Given the description of an element on the screen output the (x, y) to click on. 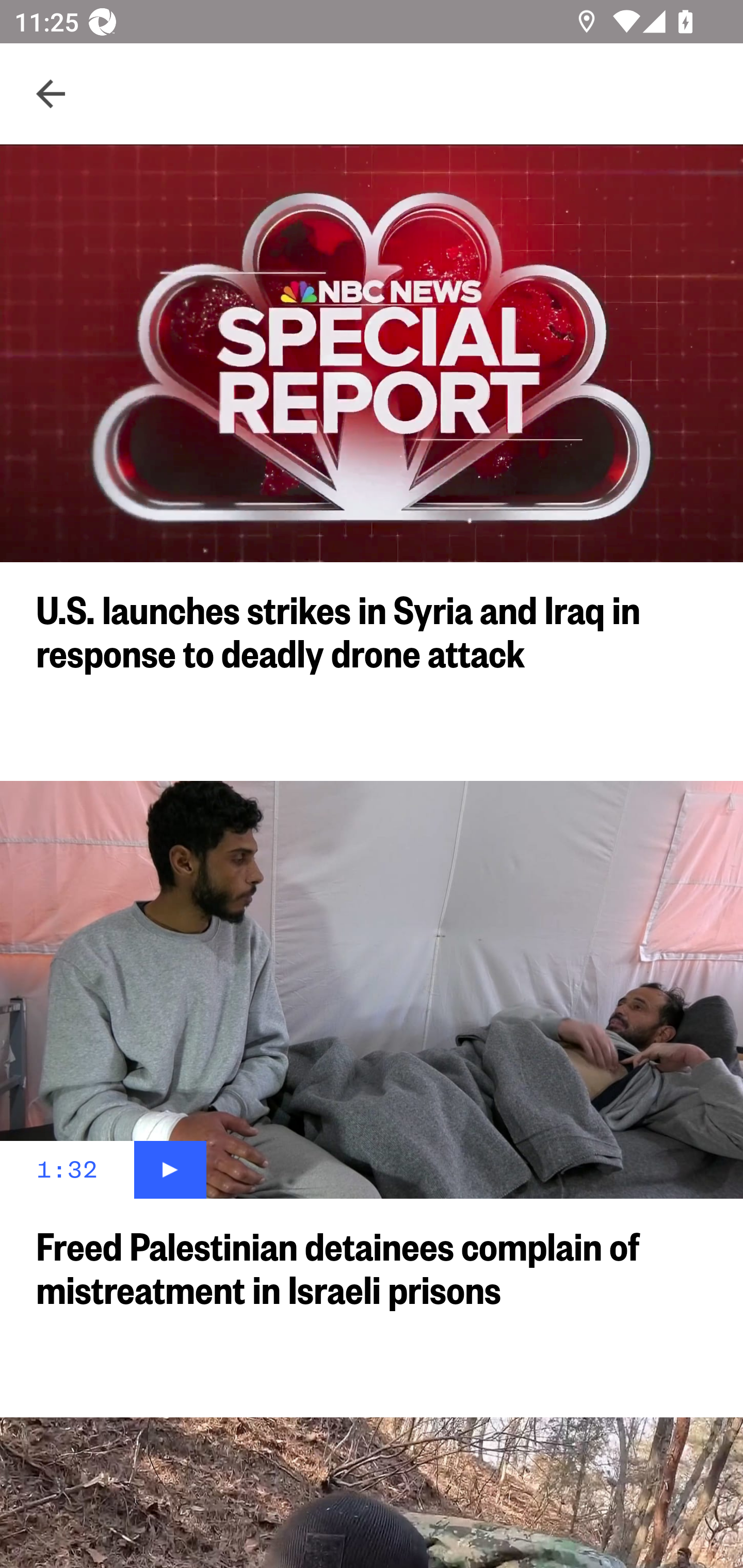
Navigate up (50, 93)
